Given the description of an element on the screen output the (x, y) to click on. 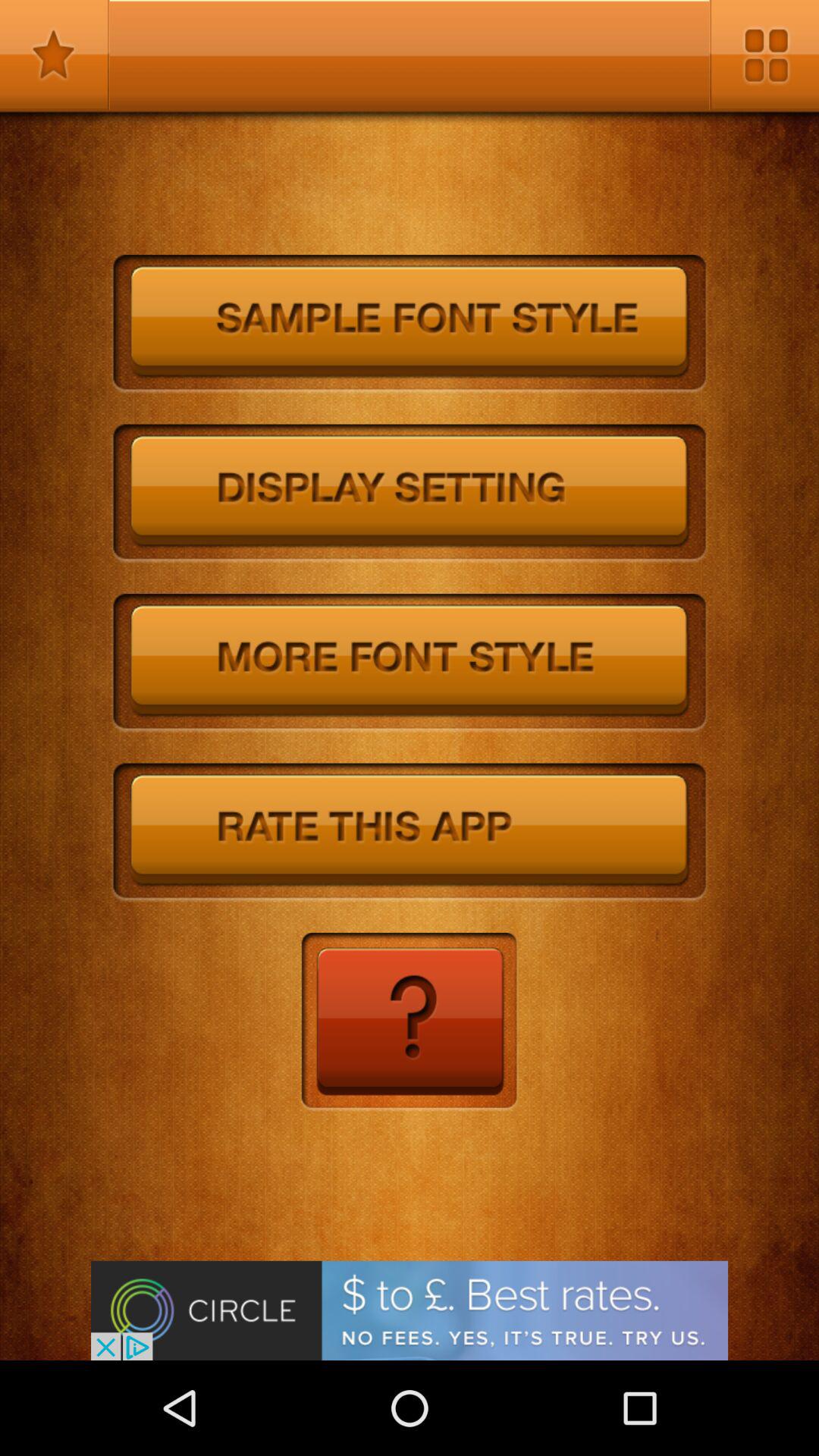
main menu options (764, 54)
